Given the description of an element on the screen output the (x, y) to click on. 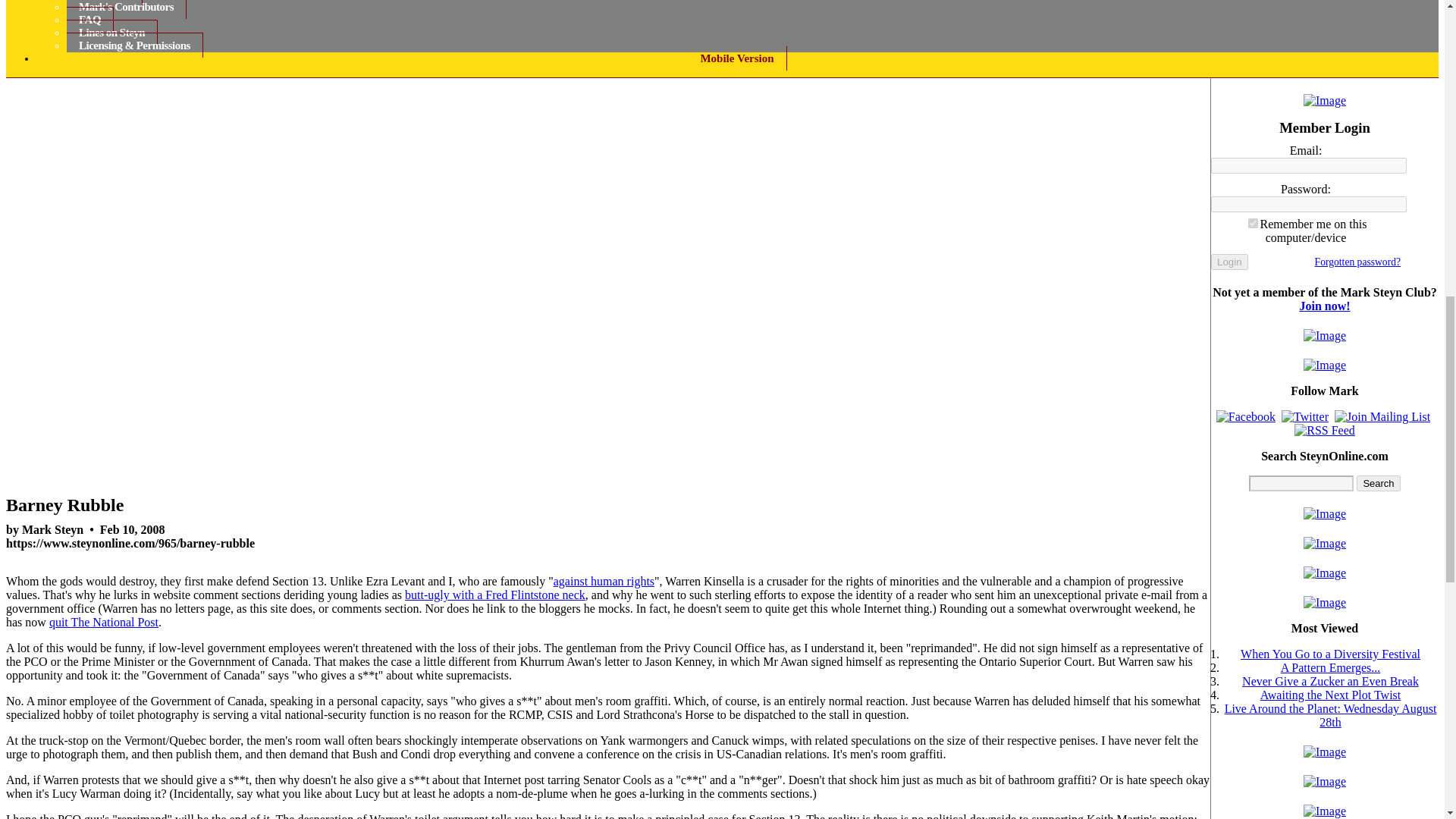
Facebook (1245, 417)
Search (1377, 483)
Twitter (1304, 417)
persist (1252, 223)
Login (1229, 261)
Join Mailing List (1382, 417)
RSS Feed (1324, 430)
